Given the description of an element on the screen output the (x, y) to click on. 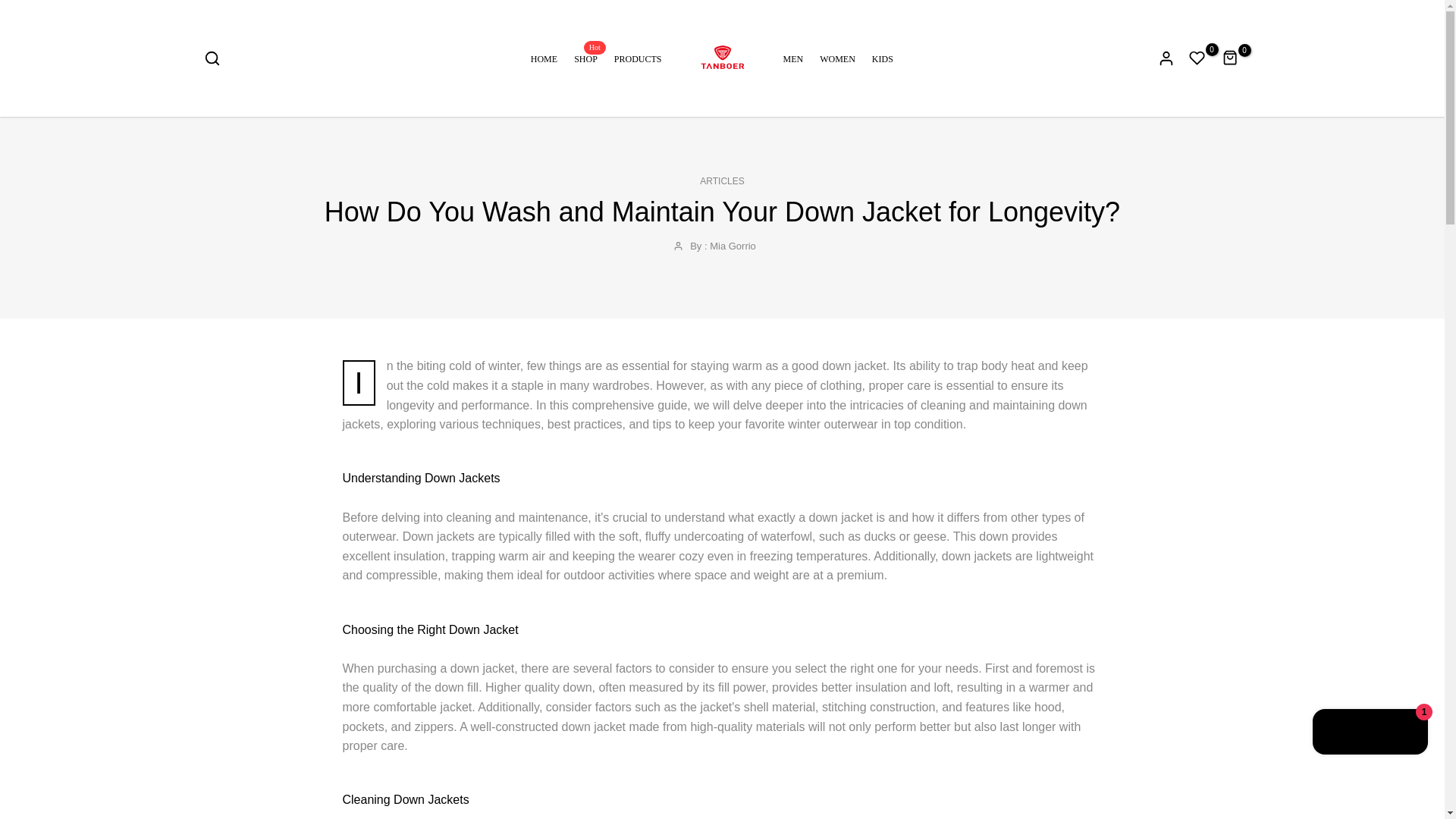
PRODUCTS (633, 58)
ARTICLES (722, 181)
Shopify online store chat (1369, 733)
KIDS (878, 58)
0 (1197, 57)
WOMEN (836, 58)
MEN (796, 58)
HOME (548, 58)
Skip to content (10, 7)
0 (585, 58)
